Given the description of an element on the screen output the (x, y) to click on. 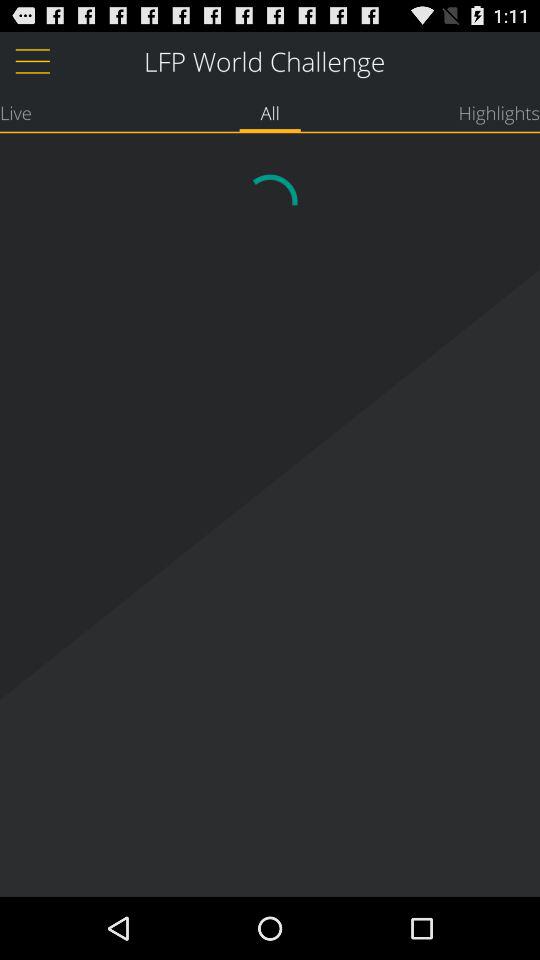
turn on app to the left of all (15, 112)
